Given the description of an element on the screen output the (x, y) to click on. 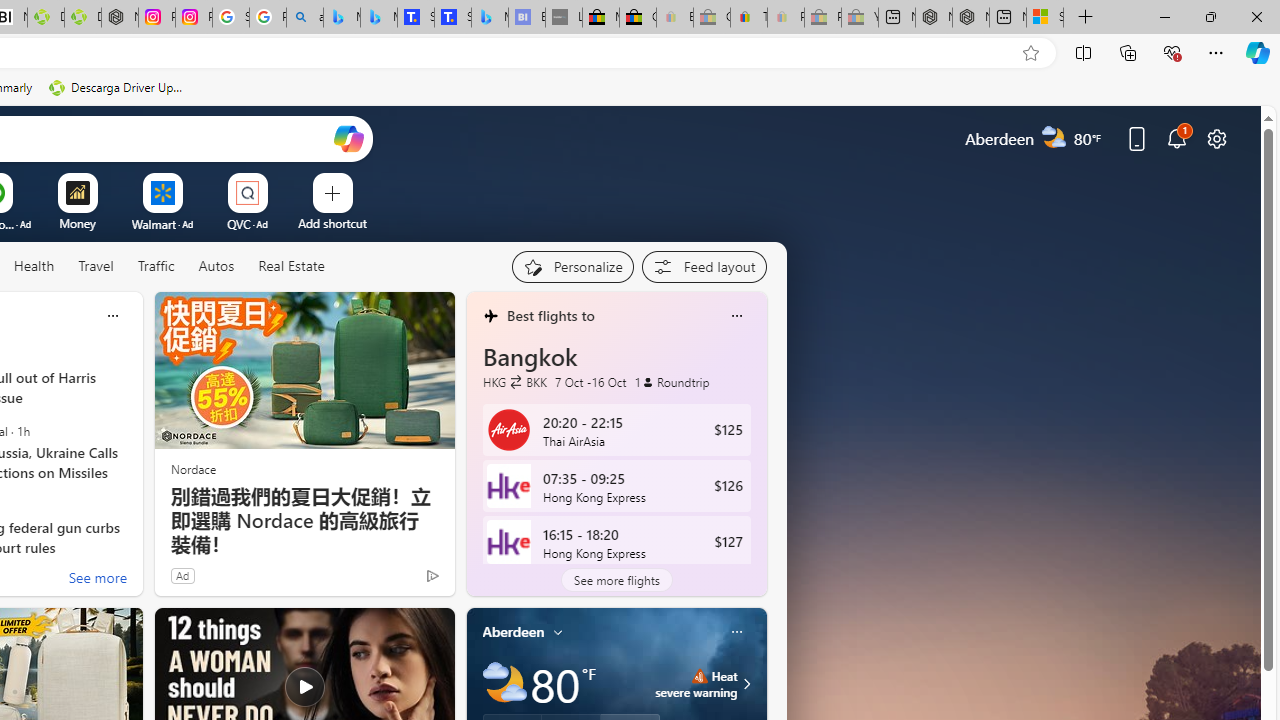
Class: weather-arrow-glyph (746, 683)
Page settings (1216, 138)
Personalize your feed" (571, 266)
Click to see more information (744, 683)
Thai AirAsia (FD 505) Thai AirAsia 20:20 - 22:15 $125 (616, 429)
Payments Terms of Use | eBay.com - Sleeping (785, 17)
